Given the description of an element on the screen output the (x, y) to click on. 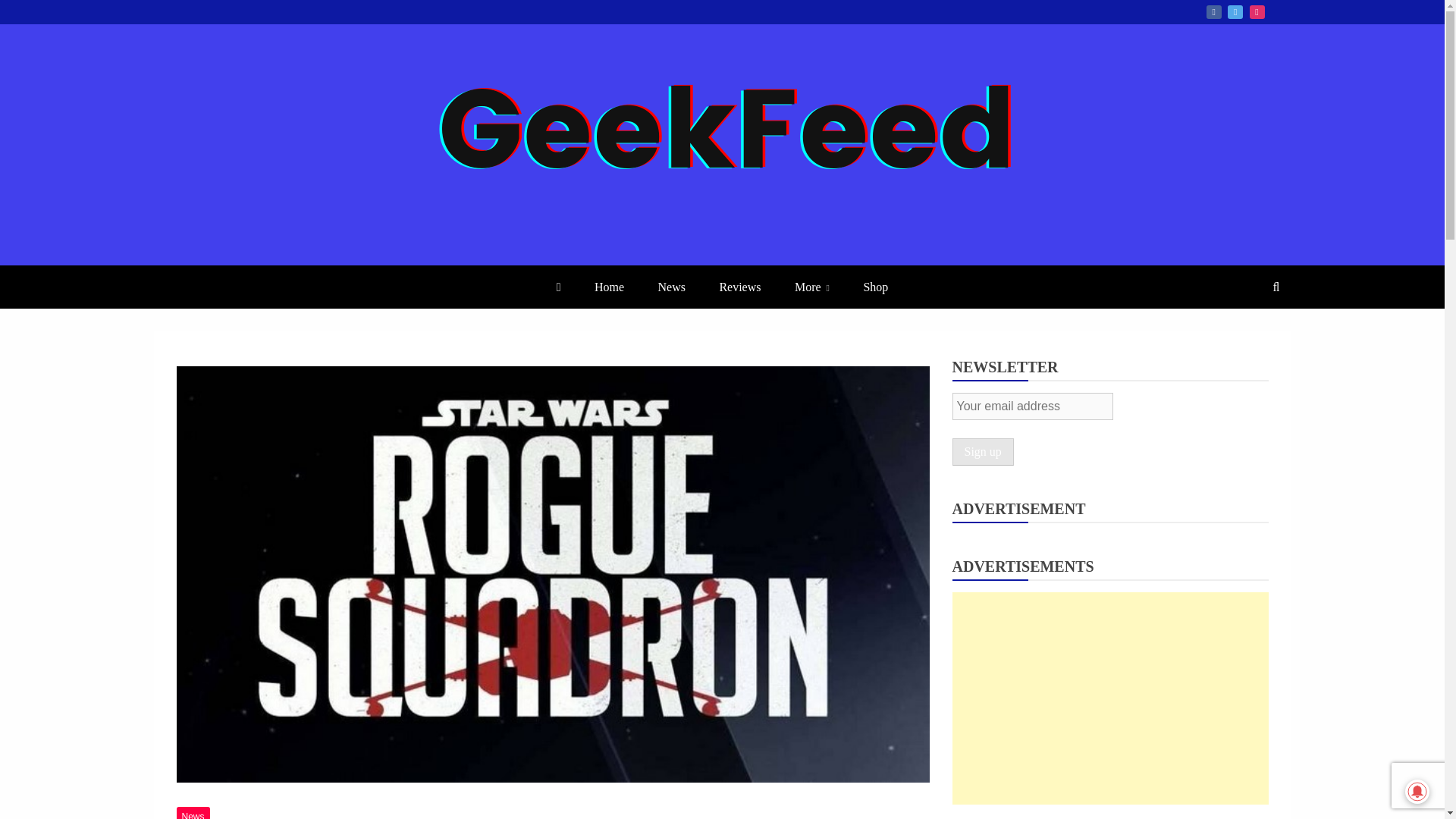
More (811, 286)
Shop (874, 286)
News (192, 812)
Home (609, 286)
Facebook (1214, 11)
Reviews (739, 286)
Advertisement (1110, 698)
News (671, 286)
Instagram (1257, 11)
